Given the description of an element on the screen output the (x, y) to click on. 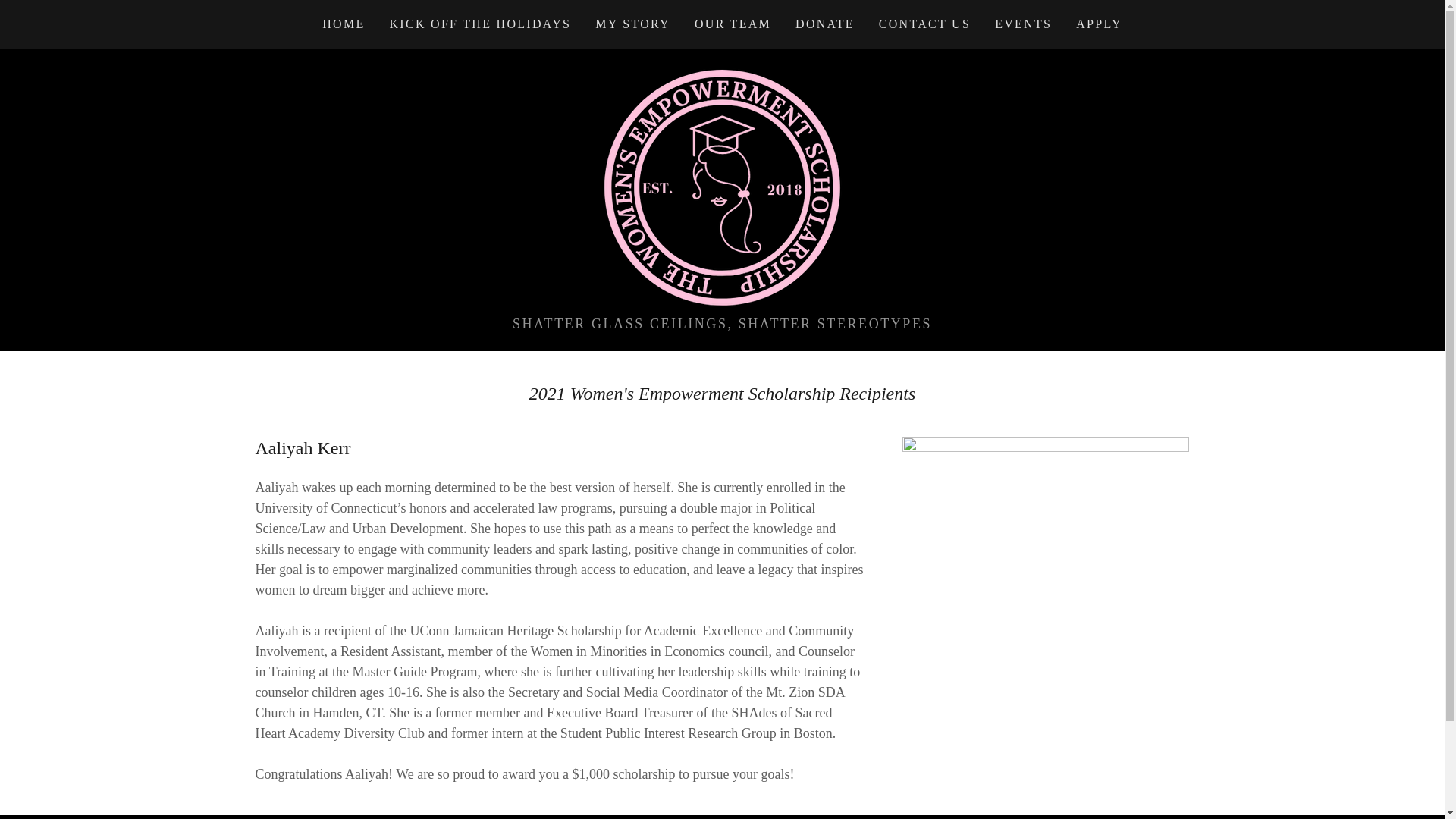
OUR TEAM (722, 186)
KICK OFF THE HOLIDAYS (733, 23)
CONTACT US (480, 23)
APPLY (925, 23)
MY STORY (1098, 23)
DONATE (633, 23)
EVENTS (824, 23)
HOME (1023, 23)
